Given the description of an element on the screen output the (x, y) to click on. 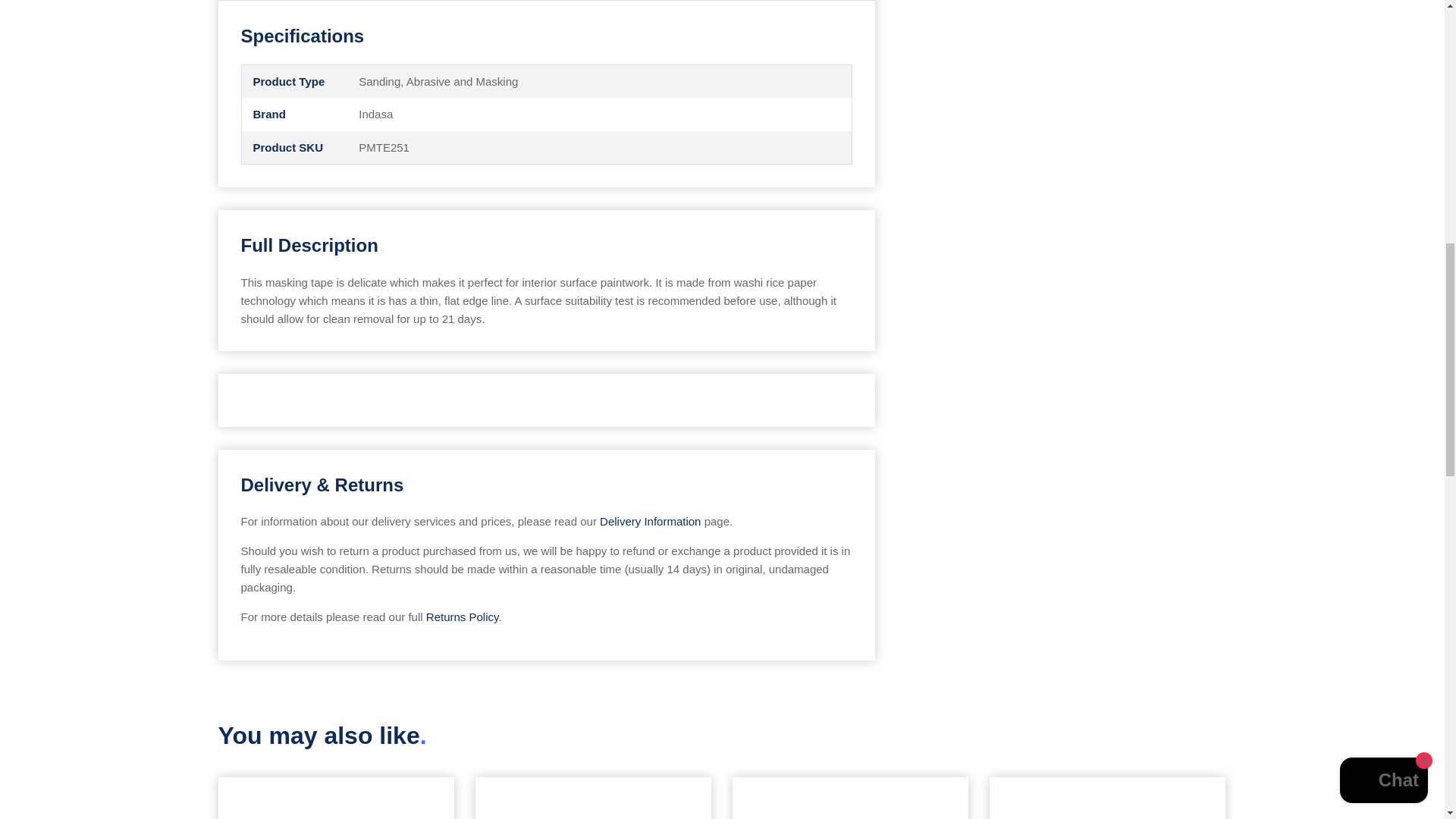
ProTekt DoubleTaper Masking Tape Dispenser (593, 798)
Returns Policy (462, 616)
